Given the description of an element on the screen output the (x, y) to click on. 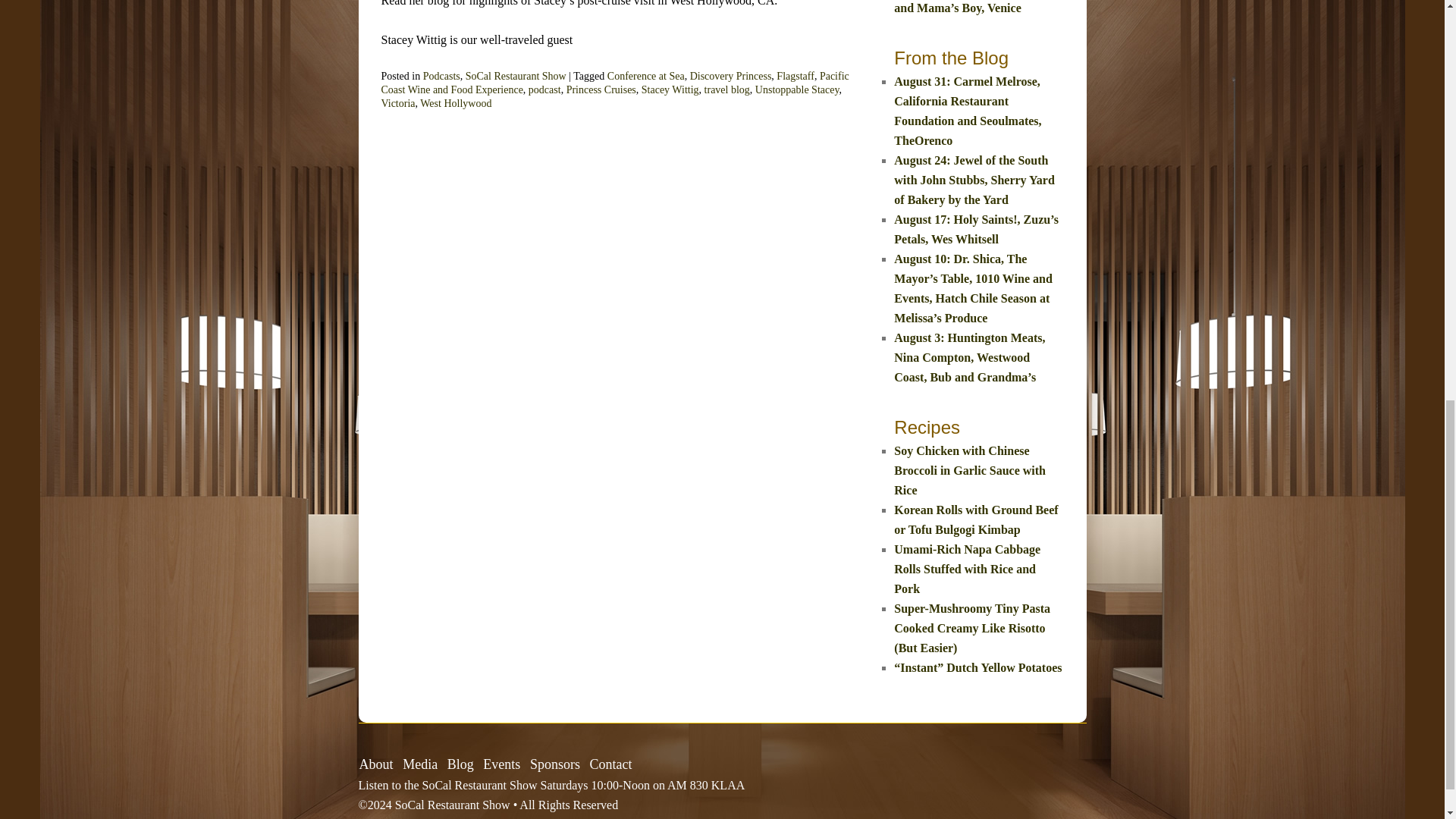
Conference at Sea (645, 75)
Princess Cruises (601, 89)
travel blog (726, 89)
Discovery Princess (730, 75)
Flagstaff (794, 75)
Stacey Wittig (670, 89)
Podcasts (441, 75)
podcast (544, 89)
SoCal Restaurant Show (515, 75)
Pacific Coast Wine and Food Experience (614, 82)
